Given the description of an element on the screen output the (x, y) to click on. 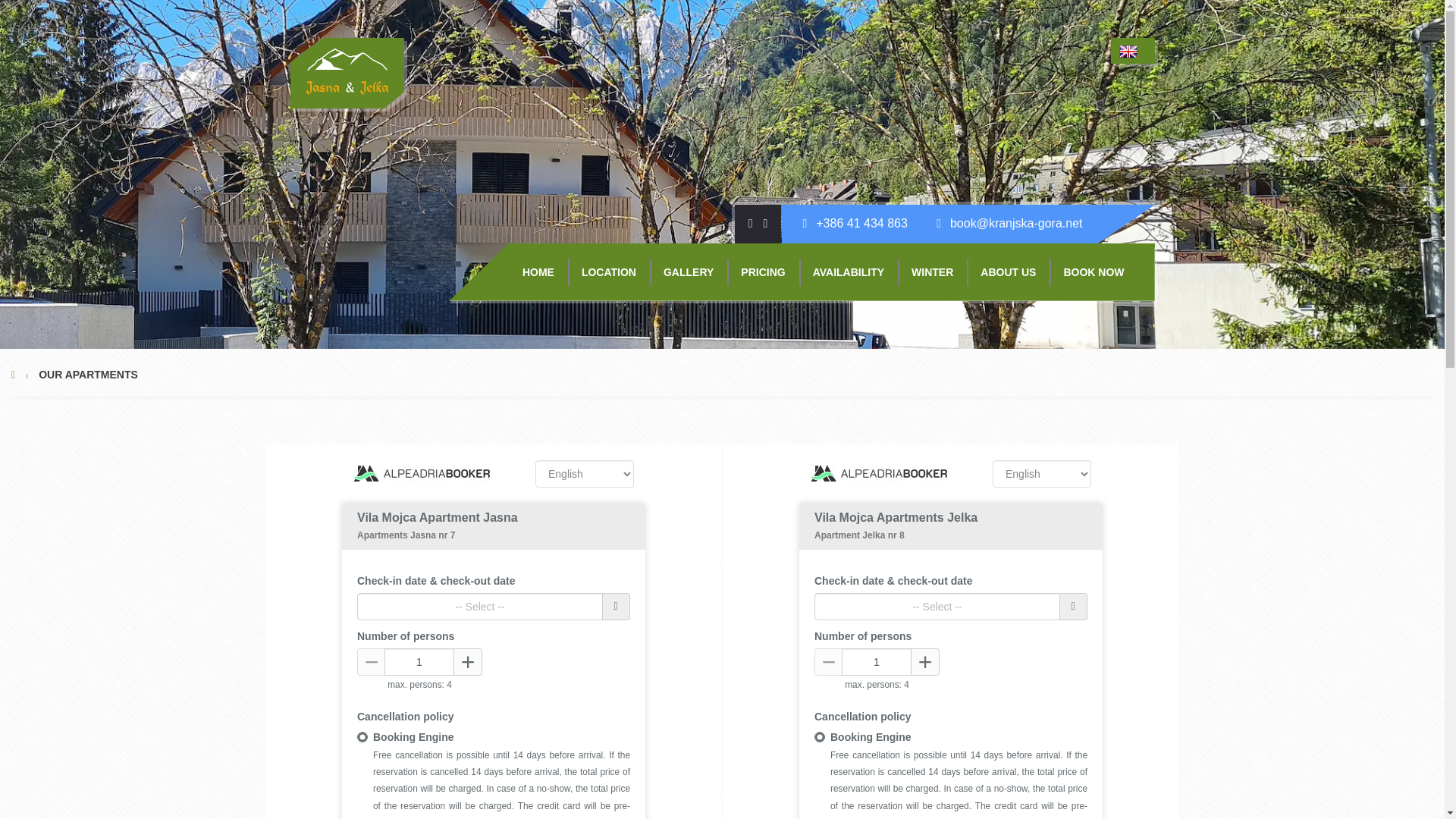
OUR APARTMENTS (92, 374)
PRICING (761, 272)
LOCATION (608, 272)
GALLERY (687, 272)
ABOUT US (1007, 272)
BOOK NOW (1093, 272)
AVAILABILITY (848, 272)
HOME (537, 272)
WINTER (932, 272)
